Given the description of an element on the screen output the (x, y) to click on. 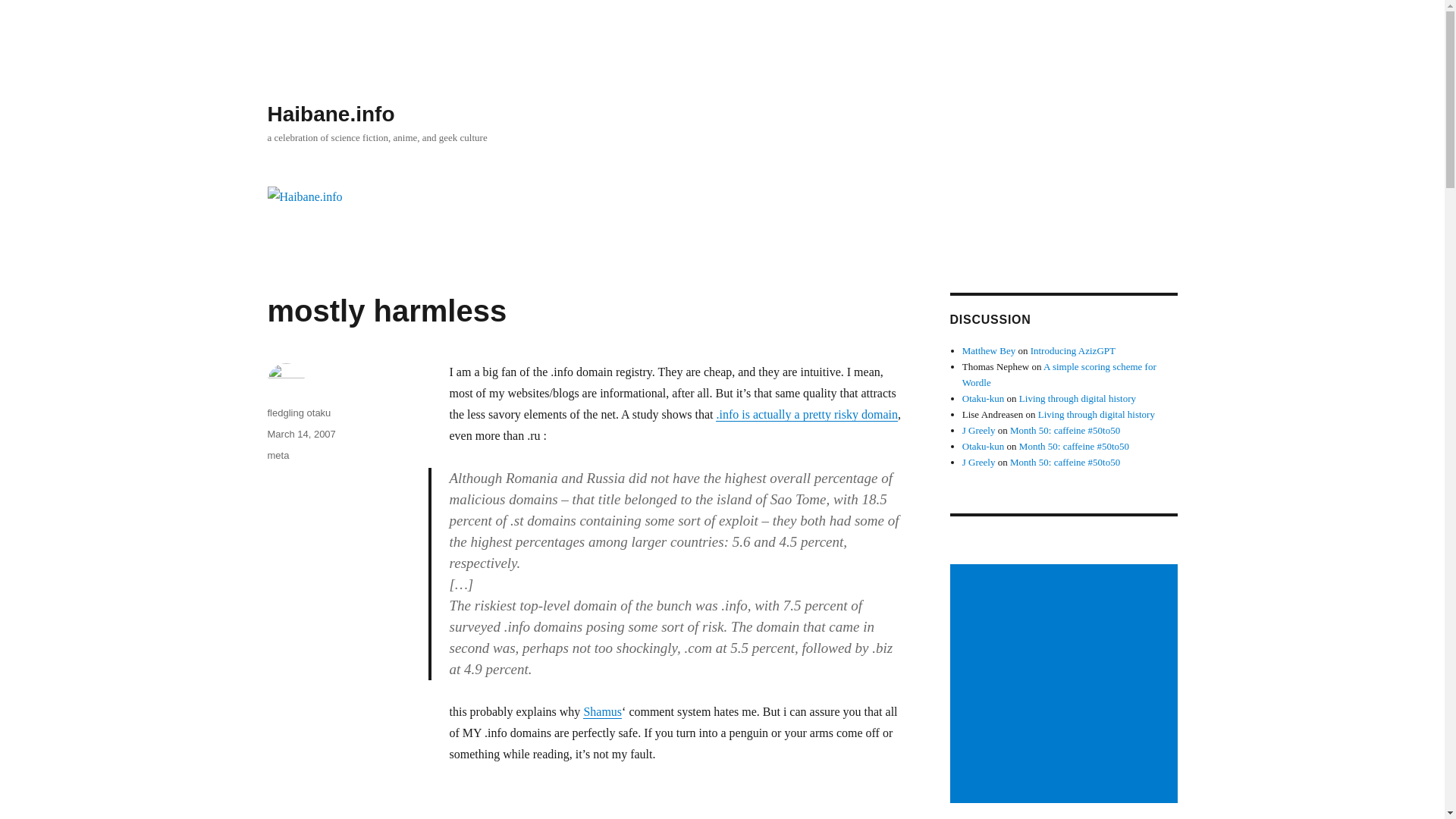
Otaku-kun (983, 588)
March 14, 2007 (300, 624)
J Greely (978, 620)
Haibane.info (330, 114)
Introducing AzizGPT (1072, 541)
Living through digital history (1077, 588)
.info is actually a pretty risky domain (807, 604)
fledgling otaku (298, 603)
J Greely (978, 652)
meta (277, 645)
